Given the description of an element on the screen output the (x, y) to click on. 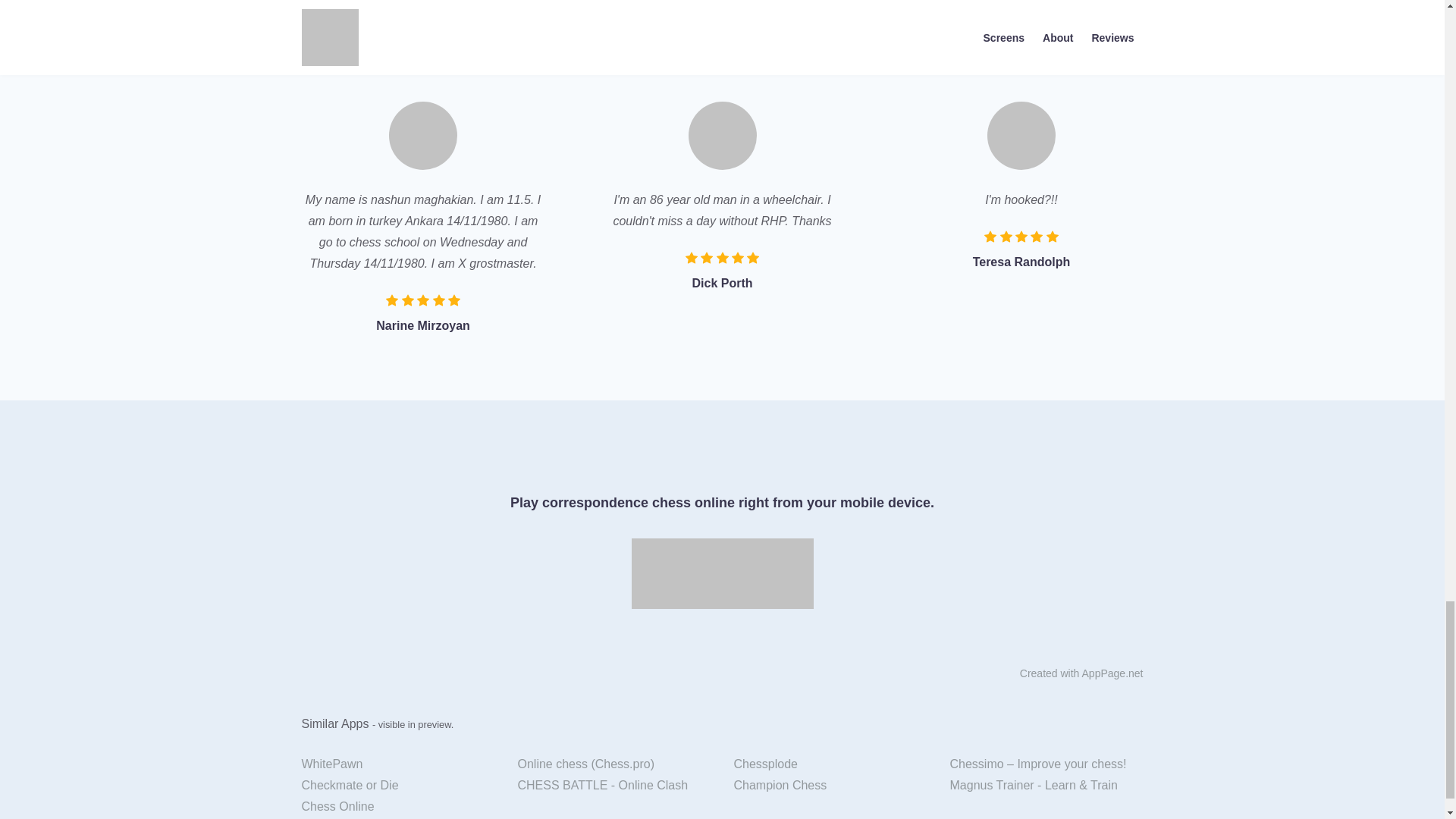
AppPage.net (1111, 673)
Chess Online (397, 806)
Checkmate or Die (397, 785)
Chessplode (829, 763)
Champion Chess (829, 785)
WhitePawn (397, 763)
CHESS BATTLE - Online Clash (614, 785)
